Given the description of an element on the screen output the (x, y) to click on. 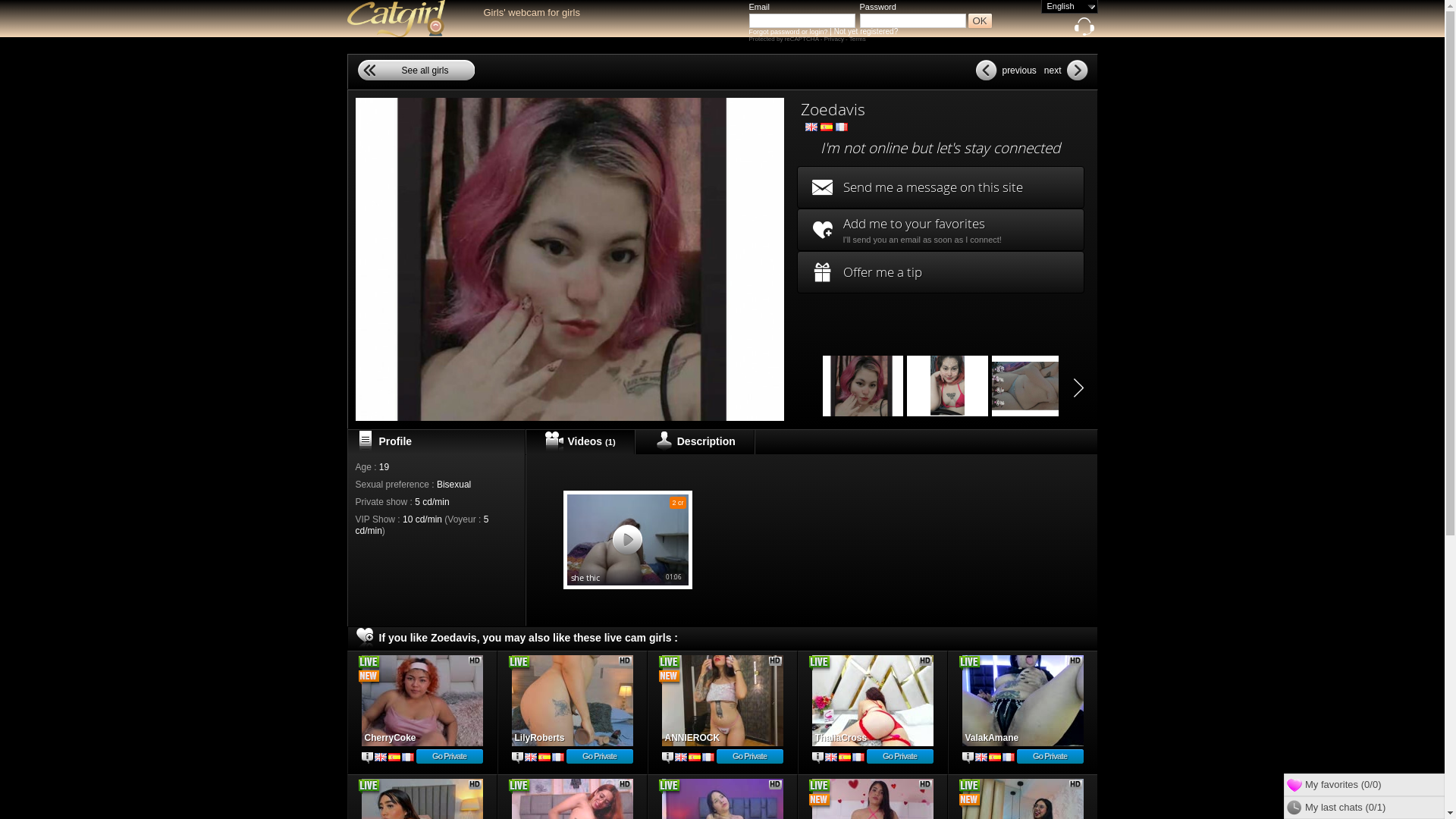
OK Element type: text (979, 20)
Go Private Element type: text (748, 756)
2 cr
she thic
01:06 Element type: text (626, 539)
ANNIEROCK
  Element type: text (721, 700)
Send me a message on this site Element type: text (940, 186)
Profile Element type: text (517, 757)
Videos (1) Element type: text (578, 441)
Go Private Element type: text (1049, 756)
Valakamane - sexcam Element type: hover (1021, 700)
At least 4 characters Element type: hover (802, 20)
Privacy Element type: text (834, 38)
ValakAmane
  Element type: text (1021, 700)
Go Private Element type: text (598, 756)
Offer me a tip Element type: text (940, 271)
Profile Element type: text (366, 757)
Description Element type: text (694, 441)
Forgot password or login? Element type: text (788, 31)
At least 5 characters Element type: hover (912, 20)
ThaliaCross
  Element type: text (871, 700)
Cherrycoke - sexcam Element type: hover (421, 700)
Go Private Element type: text (448, 756)
zoedavis Element type: hover (1032, 385)
Thaliacross - sexcam Element type: hover (871, 700)
Profile Element type: text (967, 757)
zoedavis Element type: hover (947, 385)
zoedavis Element type: hover (862, 385)
Terms Element type: text (857, 38)
next Element type: text (1064, 70)
Not yet registered? Element type: text (866, 31)
LilyRoberts
  Element type: text (571, 700)
English Element type: text (1068, 6)
previous Element type: text (1007, 70)
Need some help? Element type: hover (1083, 29)
Profile Element type: text (667, 757)
Lilyroberts - sexcam Element type: hover (571, 700)
Profile Element type: text (817, 757)
Go Private Element type: text (899, 756)
Annierock - sexcam Element type: hover (721, 700)
See all girls Element type: text (414, 70)
CherryCoke
  Element type: text (421, 700)
